Given the description of an element on the screen output the (x, y) to click on. 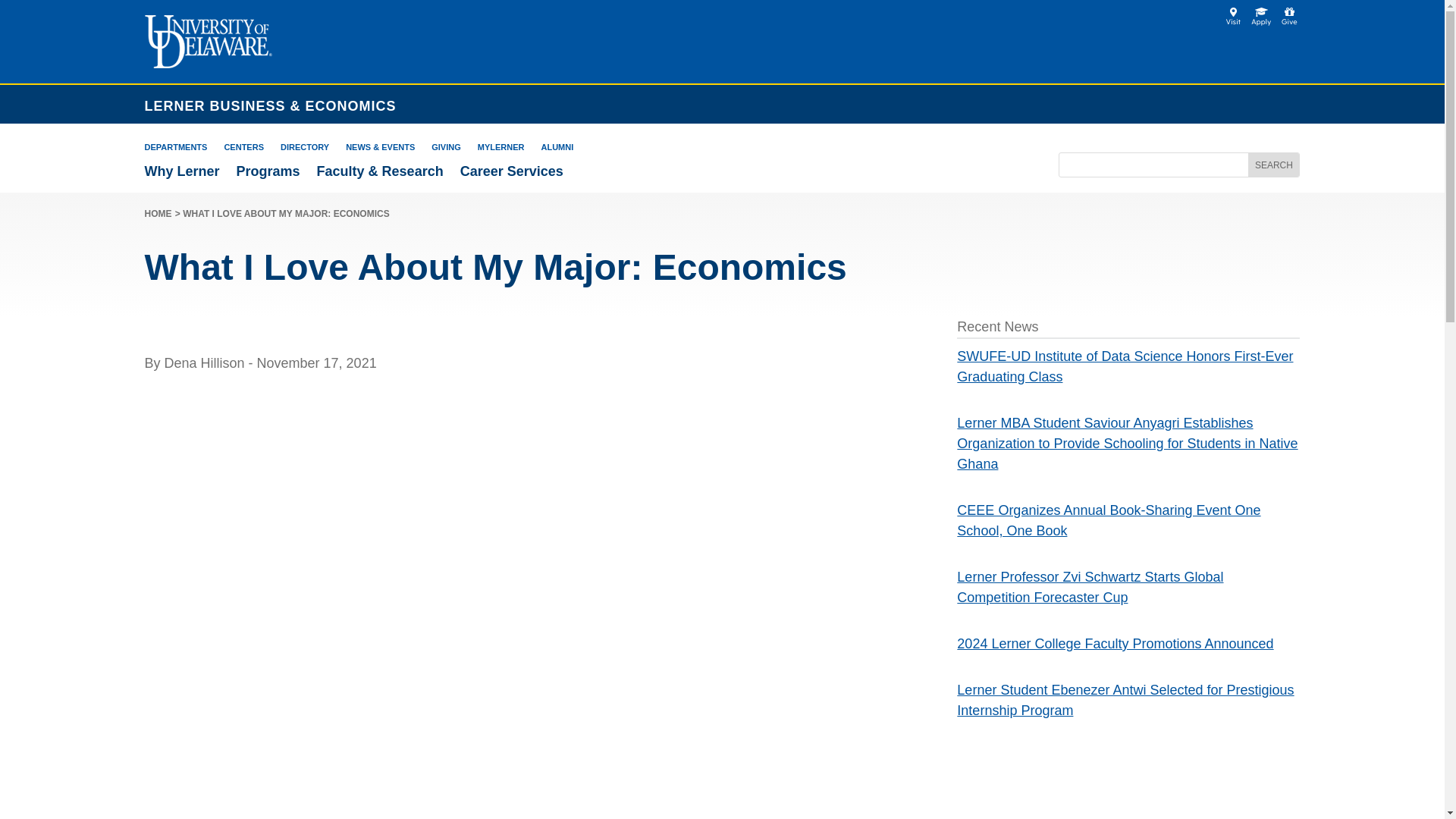
DIRECTORY (305, 146)
Search (1272, 164)
CENTERS (243, 146)
Visit (1233, 16)
Programs (267, 171)
Search (1272, 164)
Apply (1260, 16)
MYLERNER (500, 146)
Search (1272, 164)
GIVING (445, 146)
Why Lerner (181, 171)
DEPARTMENTS (175, 146)
University of Delaware (207, 41)
Apply (207, 63)
Give (1289, 16)
